Given the description of an element on the screen output the (x, y) to click on. 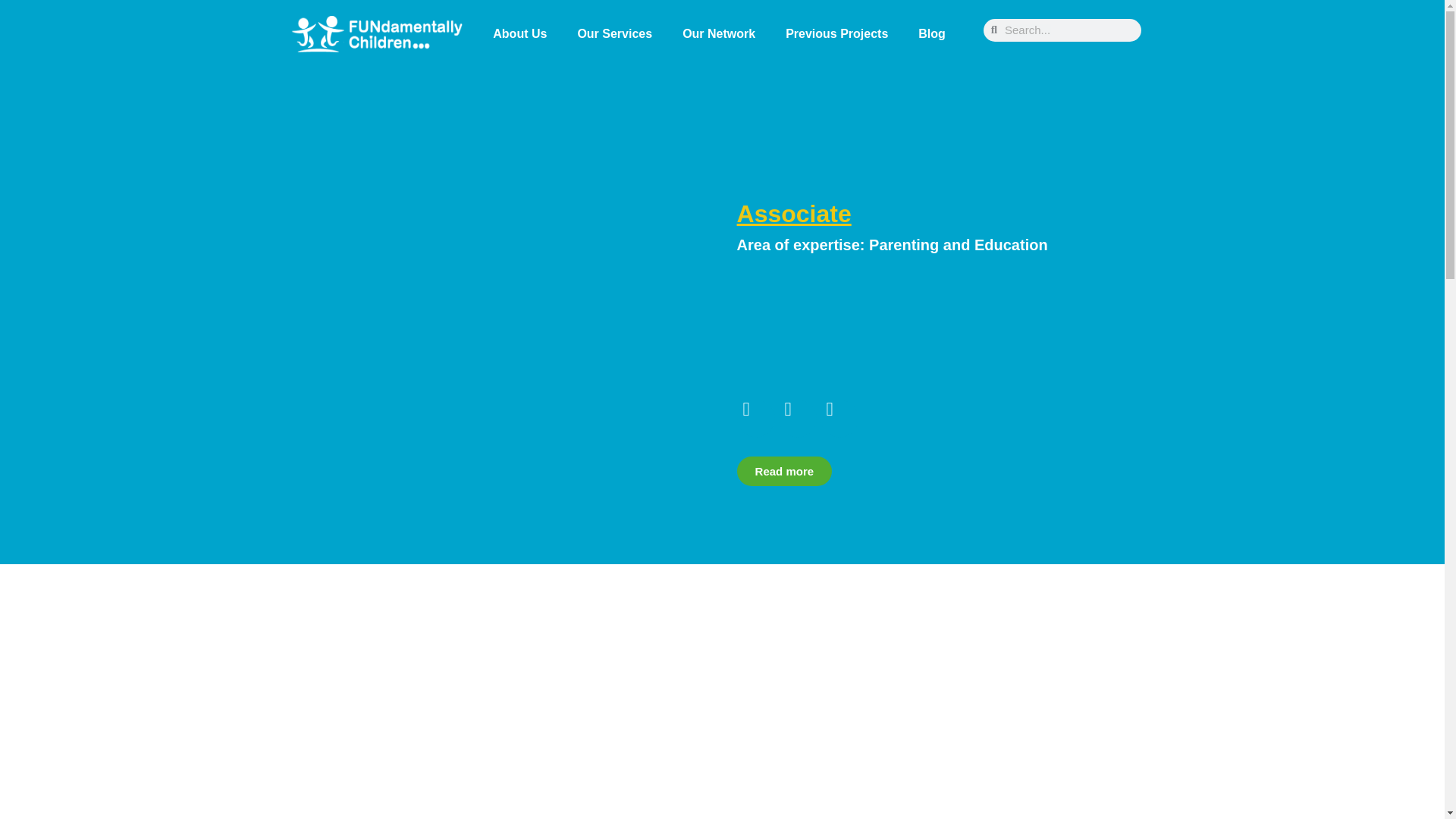
Blog (931, 33)
About Us (519, 33)
Our Network (718, 33)
Previous Projects (836, 33)
Our Services (614, 33)
